Given the description of an element on the screen output the (x, y) to click on. 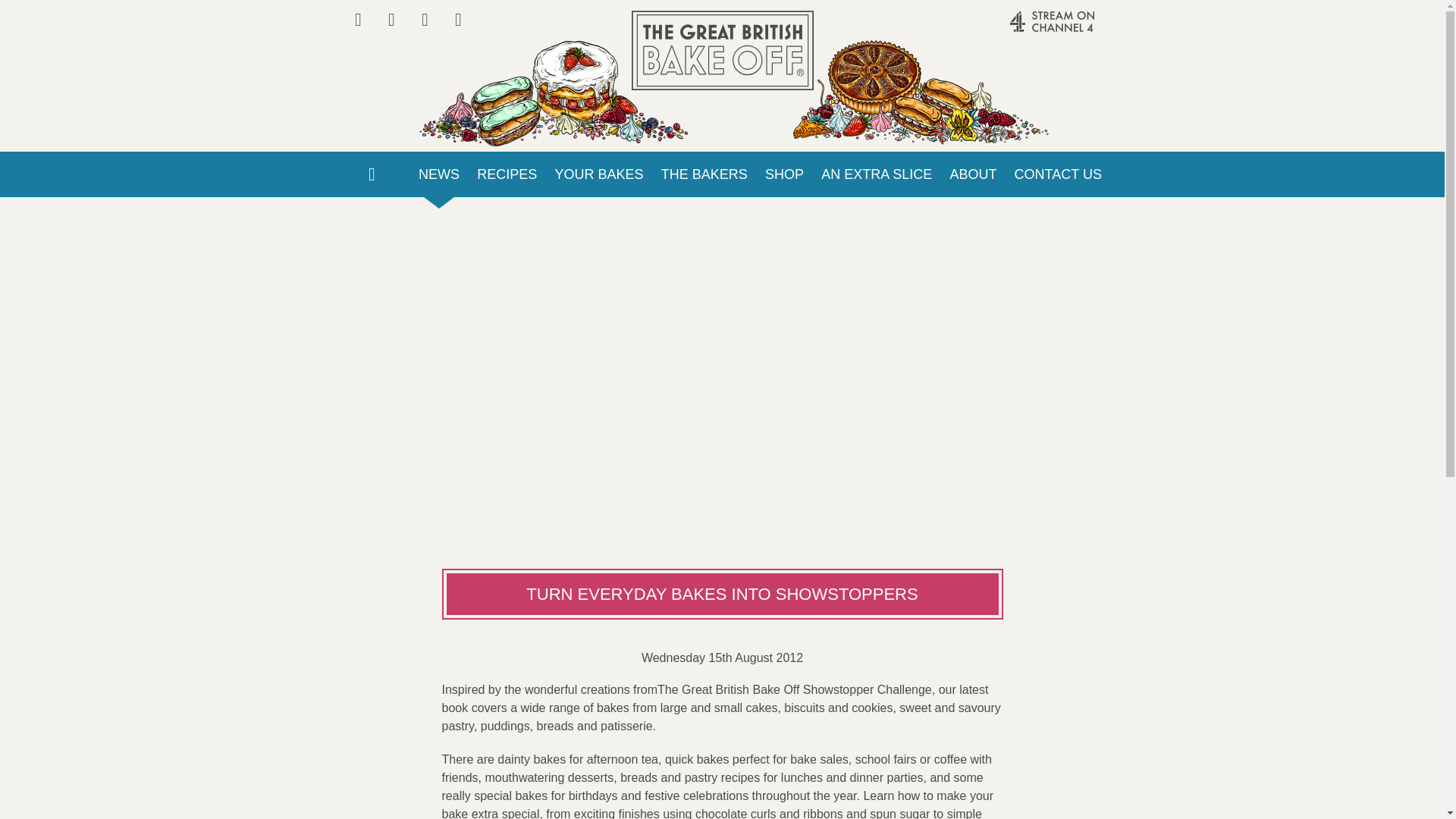
CONTACT US (1058, 174)
RECIPES (507, 174)
YOUR BAKES (599, 174)
SHOP (783, 174)
STREAM ON CHANNEL 4 (1021, 29)
The Great British Bake Off (721, 50)
AN EXTRA SLICE (876, 174)
ABOUT (973, 174)
HOME (371, 174)
NEWS (438, 174)
